Given the description of an element on the screen output the (x, y) to click on. 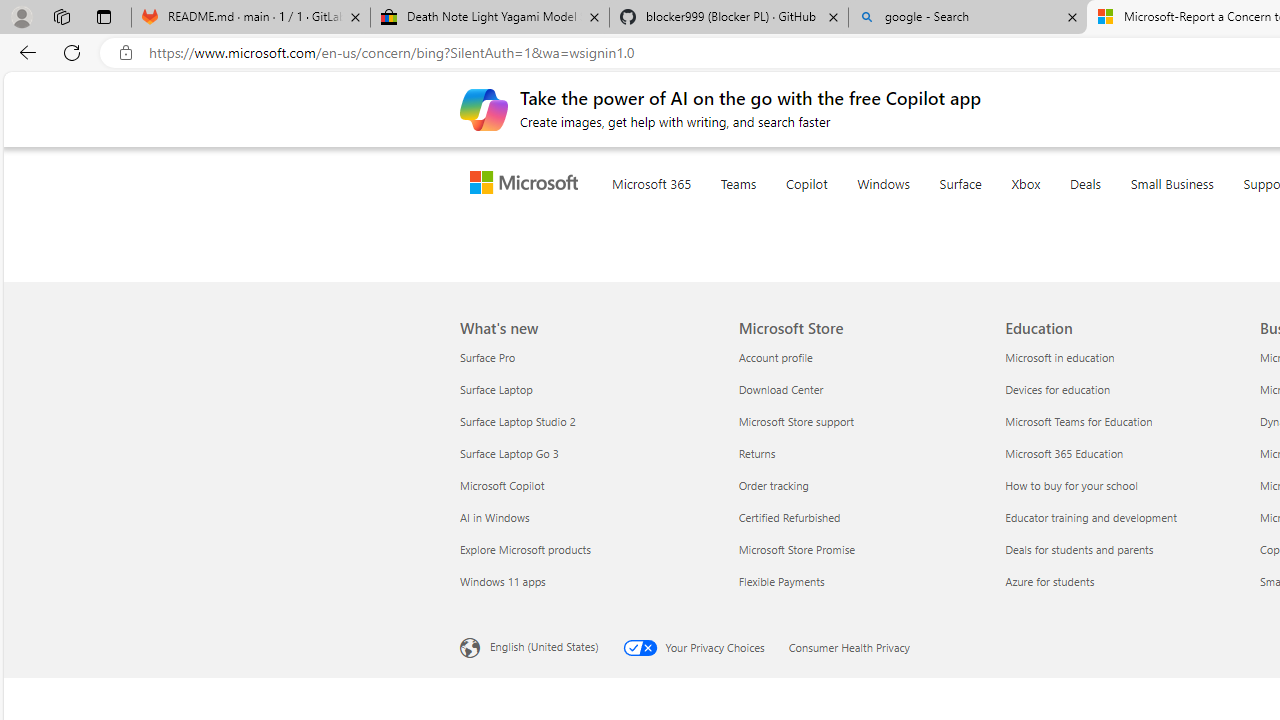
Microsoft (527, 184)
Deals (1124, 207)
Small Business (1211, 208)
Deals (1124, 208)
Xbox (1066, 207)
Xbox (1065, 208)
google - Search (967, 17)
Small Business (1212, 207)
Windows (923, 208)
Copilot (846, 208)
